Given the description of an element on the screen output the (x, y) to click on. 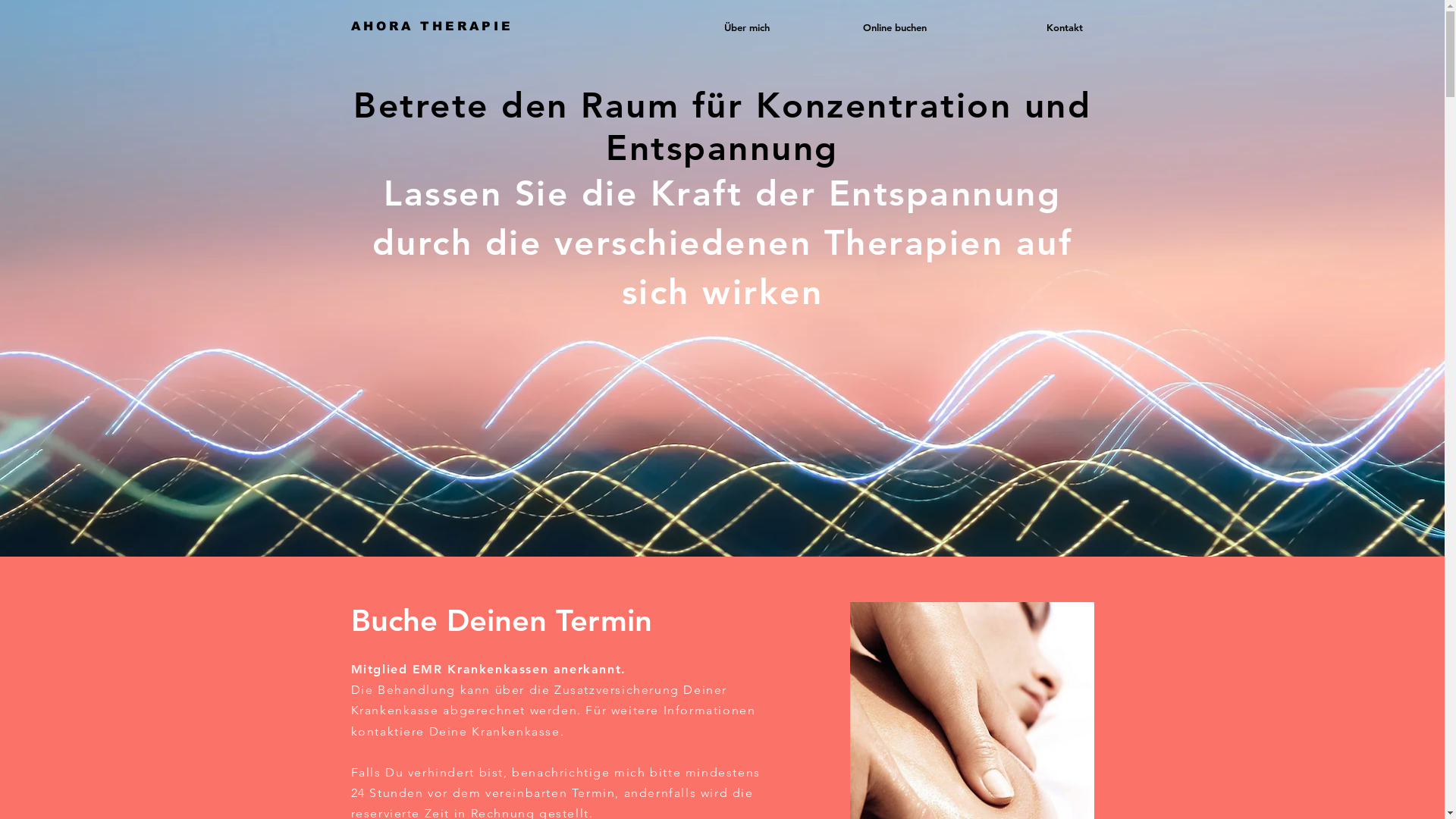
Kontakt Element type: text (1015, 27)
AHORA THERAPIE Element type: text (431, 25)
Online buchen Element type: text (859, 27)
